Given the description of an element on the screen output the (x, y) to click on. 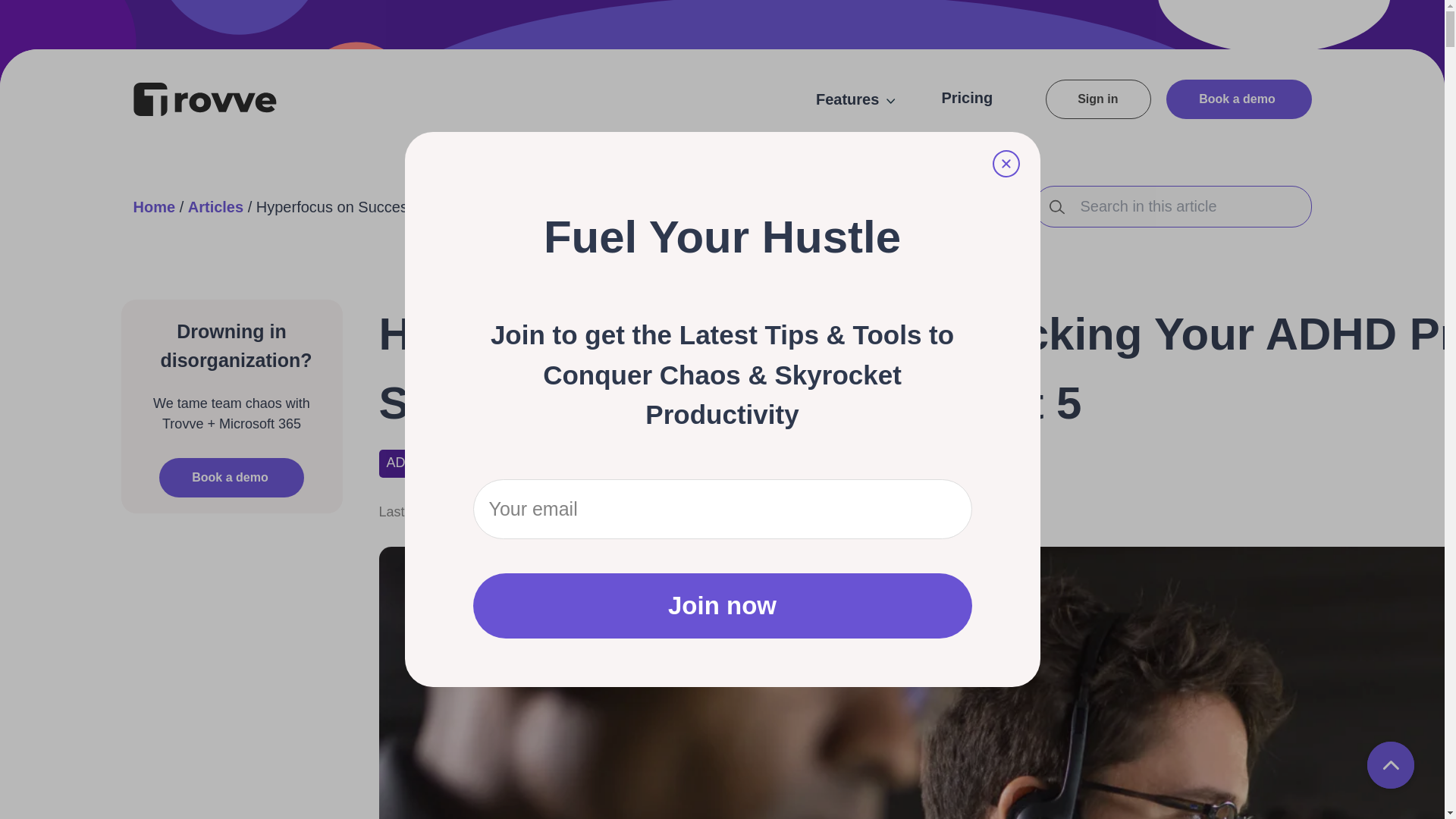
Pricing (966, 97)
Features (855, 99)
Book a demo (230, 477)
Articles (215, 207)
Sign in (1097, 98)
Home (154, 207)
Book a demo (1238, 98)
